Given the description of an element on the screen output the (x, y) to click on. 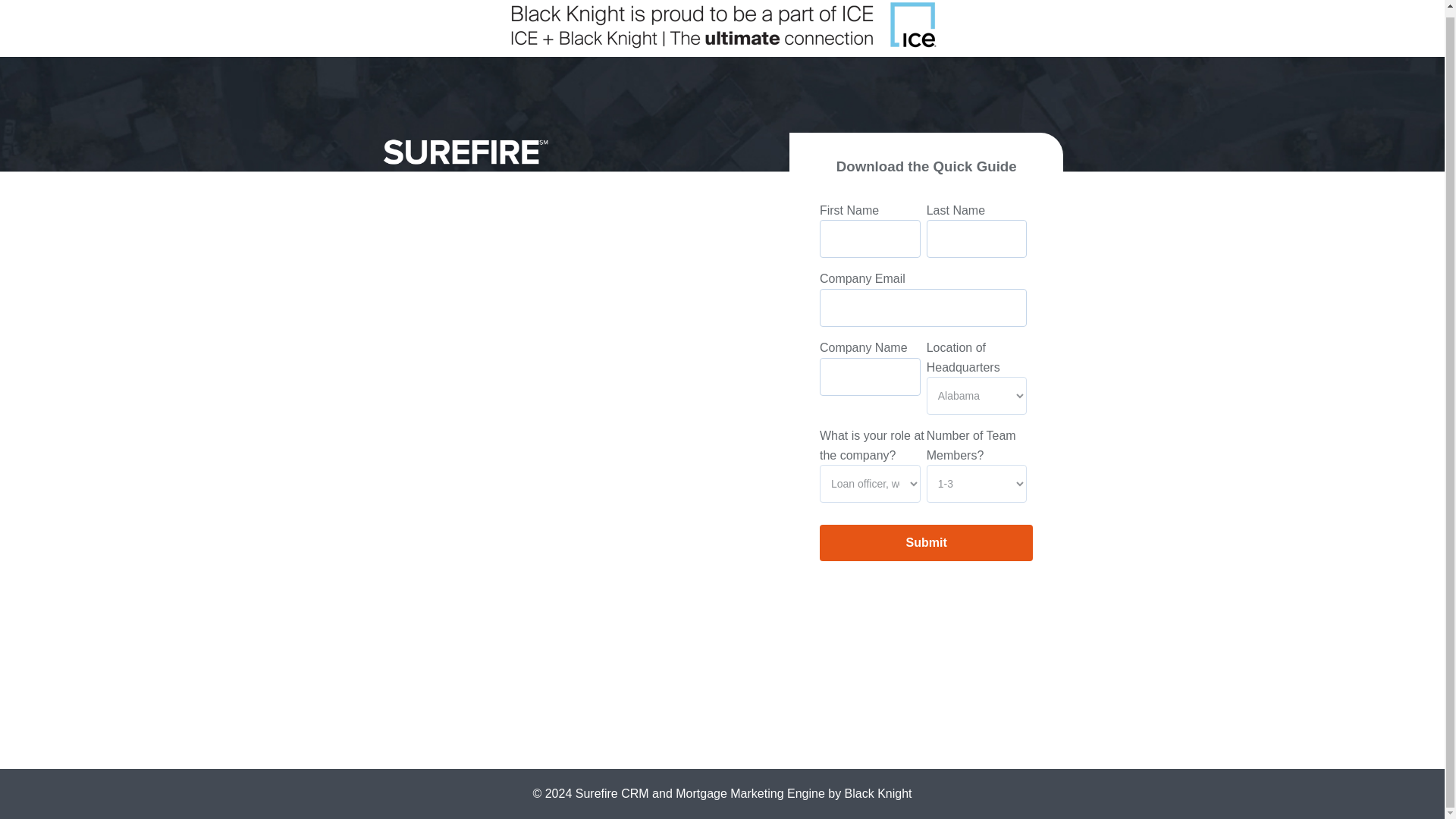
Submit (926, 542)
Black Knight is proud to be a part of ICE (722, 28)
Submit (926, 542)
